Given the description of an element on the screen output the (x, y) to click on. 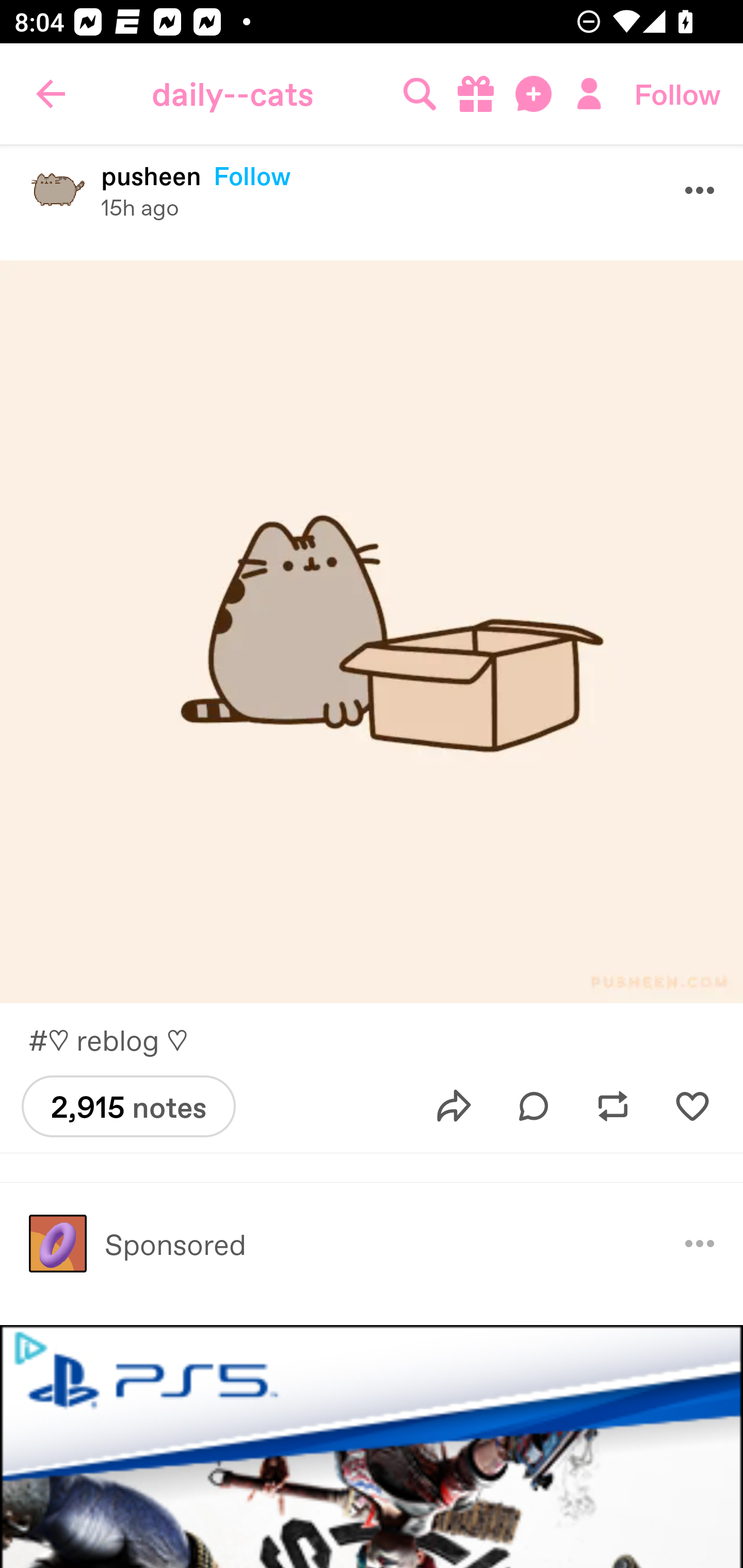
Navigate up (50, 93)
Messages (535, 93)
Follow (677, 93)
#♡ reblog ♡ (116, 1039)
Share post to message (454, 1106)
Reply (533, 1106)
Reblog (612, 1106)
Like (691, 1106)
2,915 notes (128, 1105)
Why do I see this ad? (699, 1243)
